Given the description of an element on the screen output the (x, y) to click on. 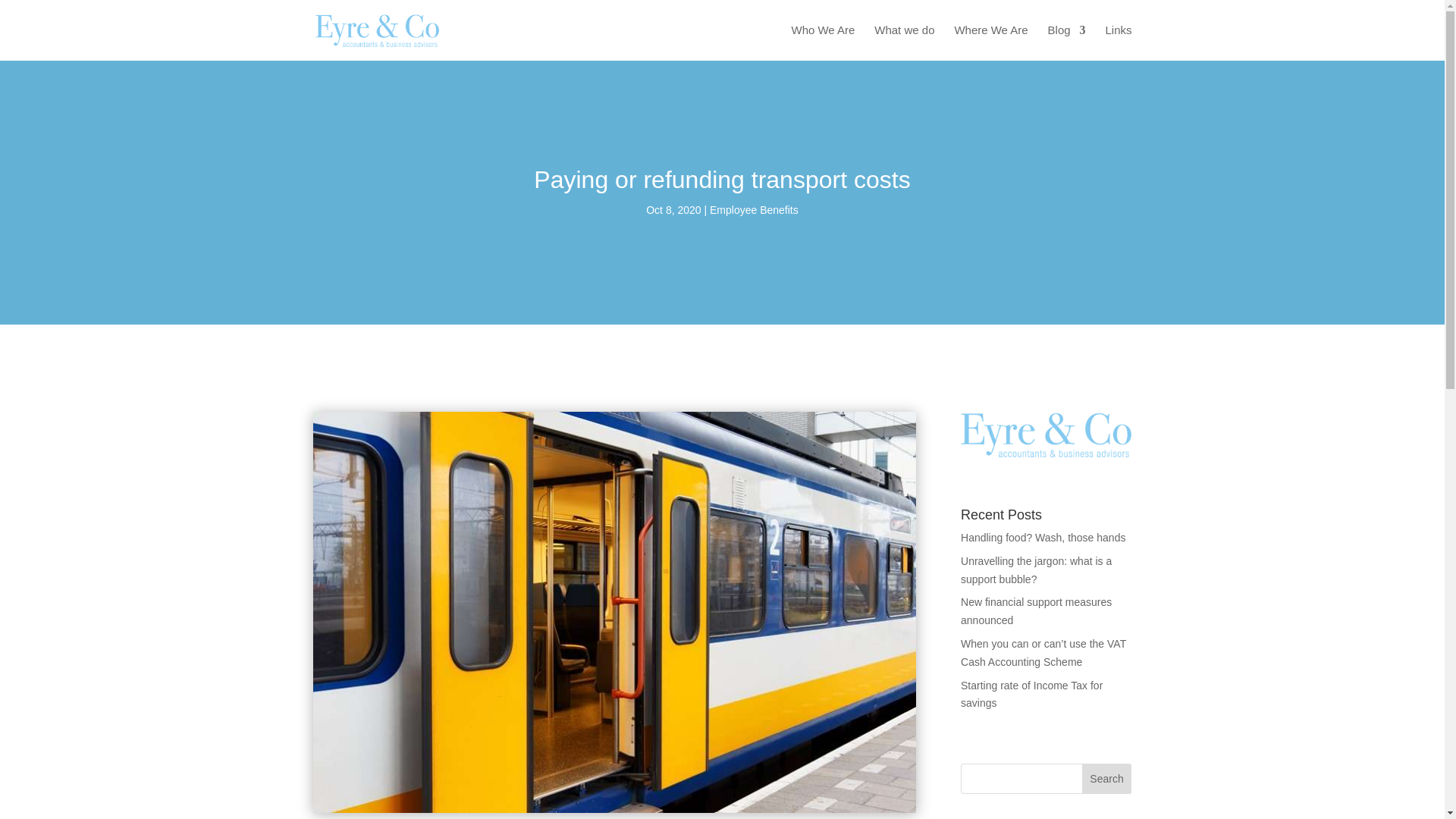
Where We Are (990, 42)
Starting rate of Income Tax for savings (1031, 694)
What we do (904, 42)
Employee Benefits (753, 209)
Blog (1067, 42)
Handling food? Wash, those hands (1042, 537)
Unravelling the jargon: what is a support bubble? (1036, 570)
Search (1106, 778)
Who We Are (822, 42)
Search (1106, 778)
New financial support measures announced (1036, 611)
